Given the description of an element on the screen output the (x, y) to click on. 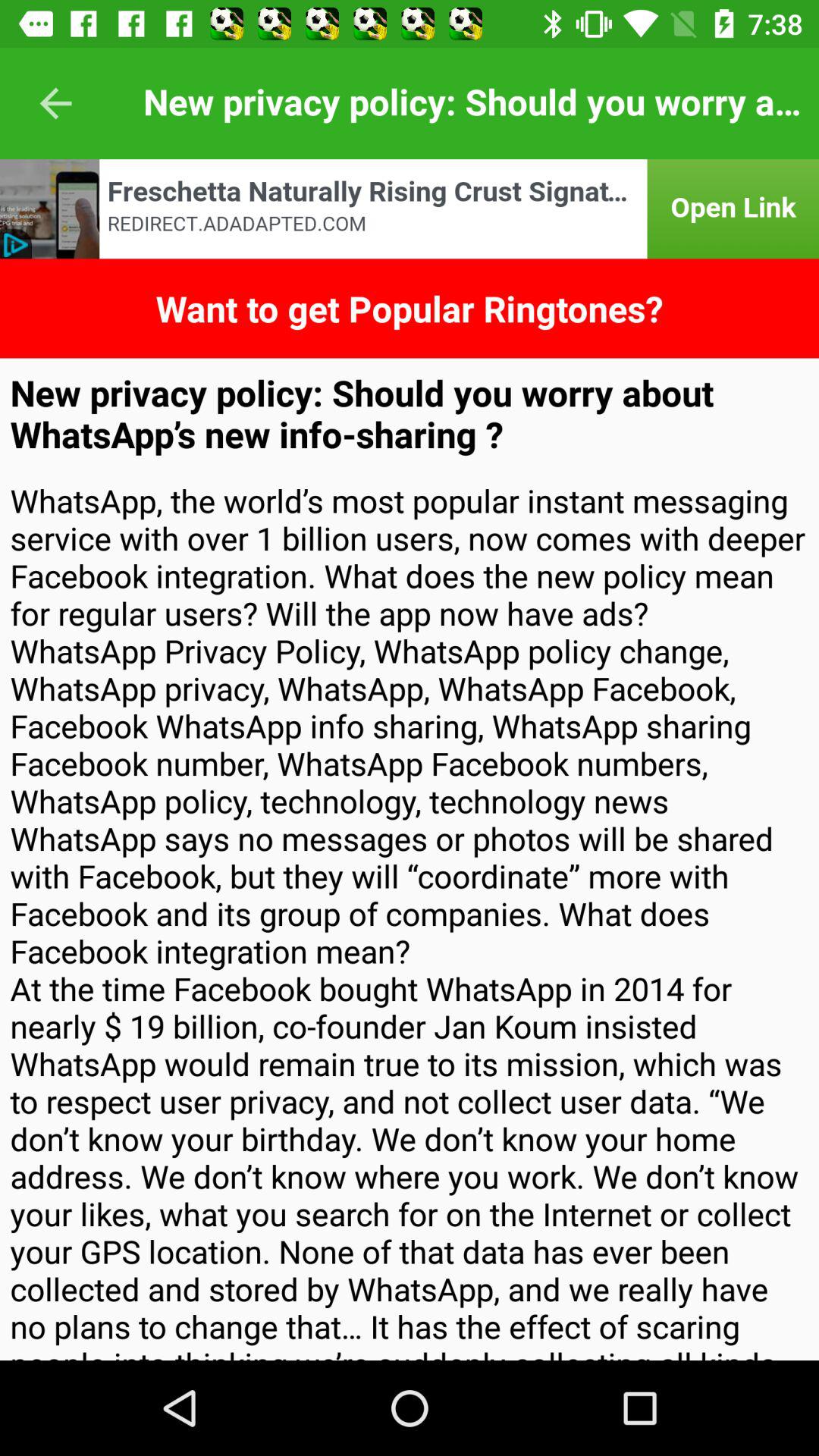
open the icon to the left of new privacy policy item (55, 103)
